Given the description of an element on the screen output the (x, y) to click on. 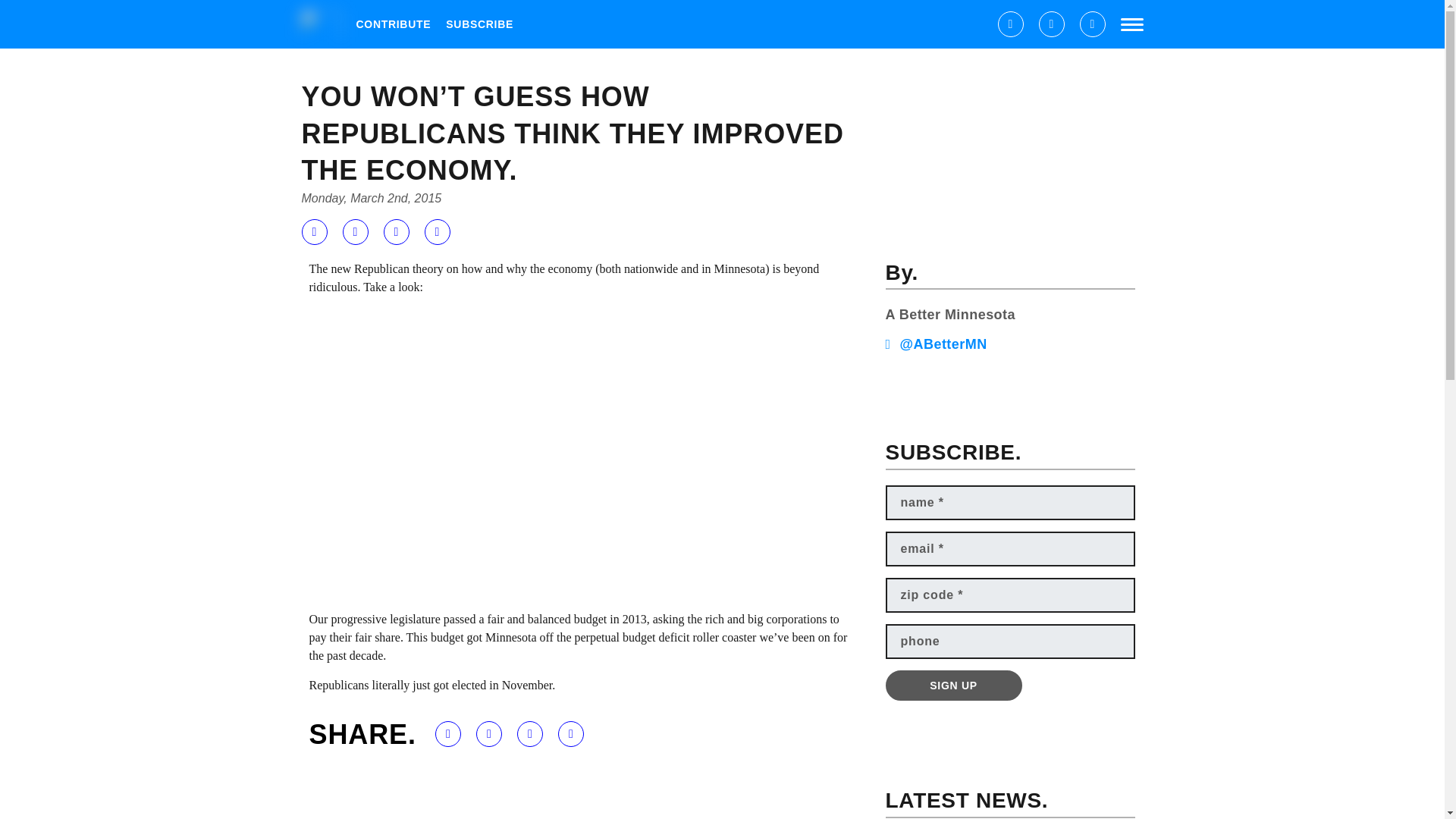
Follow us on Instagram (1092, 23)
Share on Facebook (314, 231)
SUBSCRIBE (479, 23)
Follow us on Twitter (1051, 23)
Copy Link (570, 733)
CONTRIBUTE (393, 23)
Copy Link (437, 231)
Like us on Facebook (1010, 23)
SIGN UP (953, 685)
A Better Minnesota (949, 314)
